Given the description of an element on the screen output the (x, y) to click on. 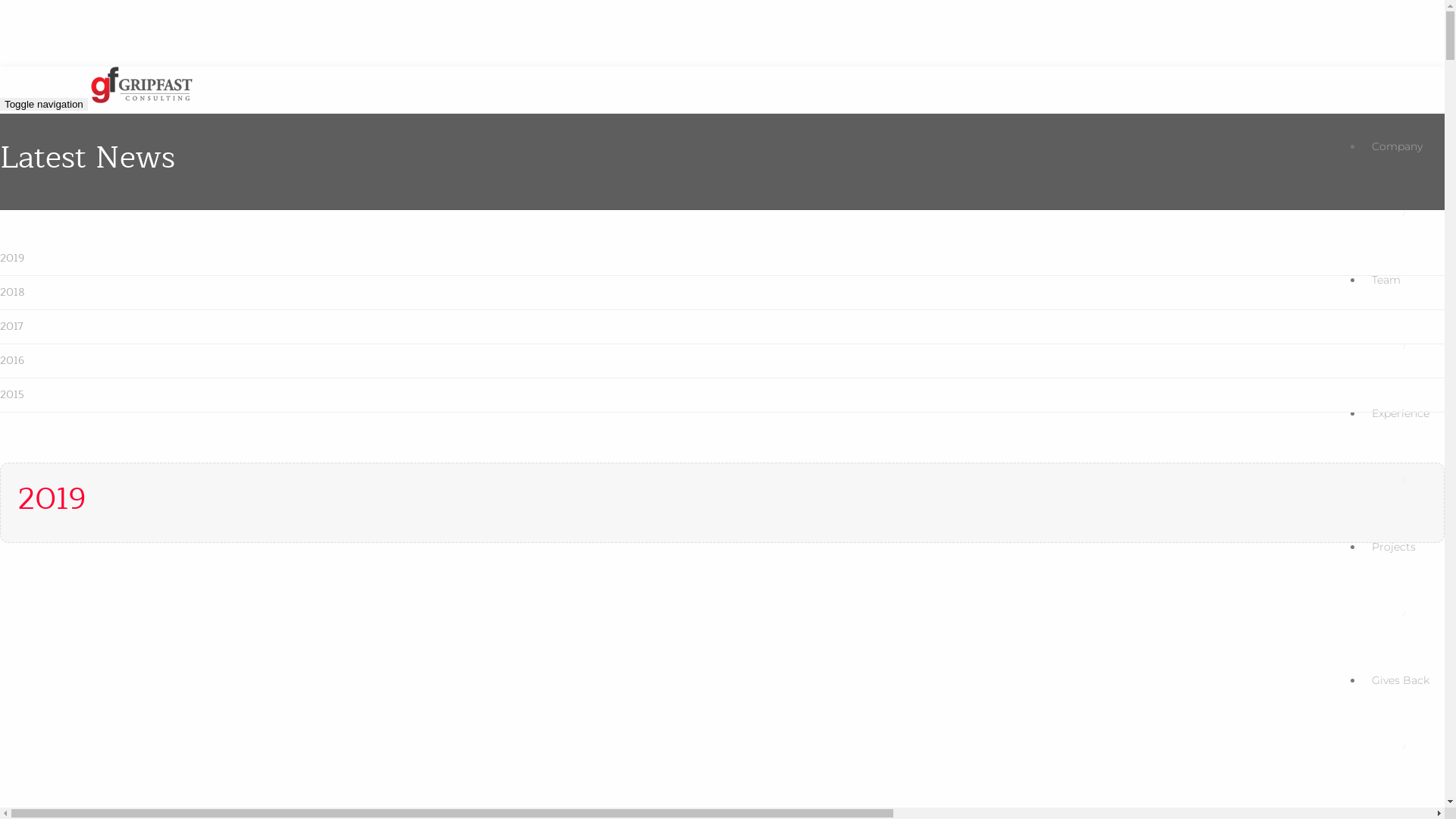
2019 Element type: text (722, 258)
Team Element type: text (1403, 279)
Toggle navigation Element type: text (43, 103)
Gives Back Element type: text (1403, 679)
2017 Element type: text (722, 327)
2018 Element type: text (722, 293)
Projects Element type: text (1403, 546)
Company Element type: text (1403, 145)
2015 Element type: text (722, 395)
2016 Element type: text (722, 361)
Experience Element type: text (1403, 412)
